Given the description of an element on the screen output the (x, y) to click on. 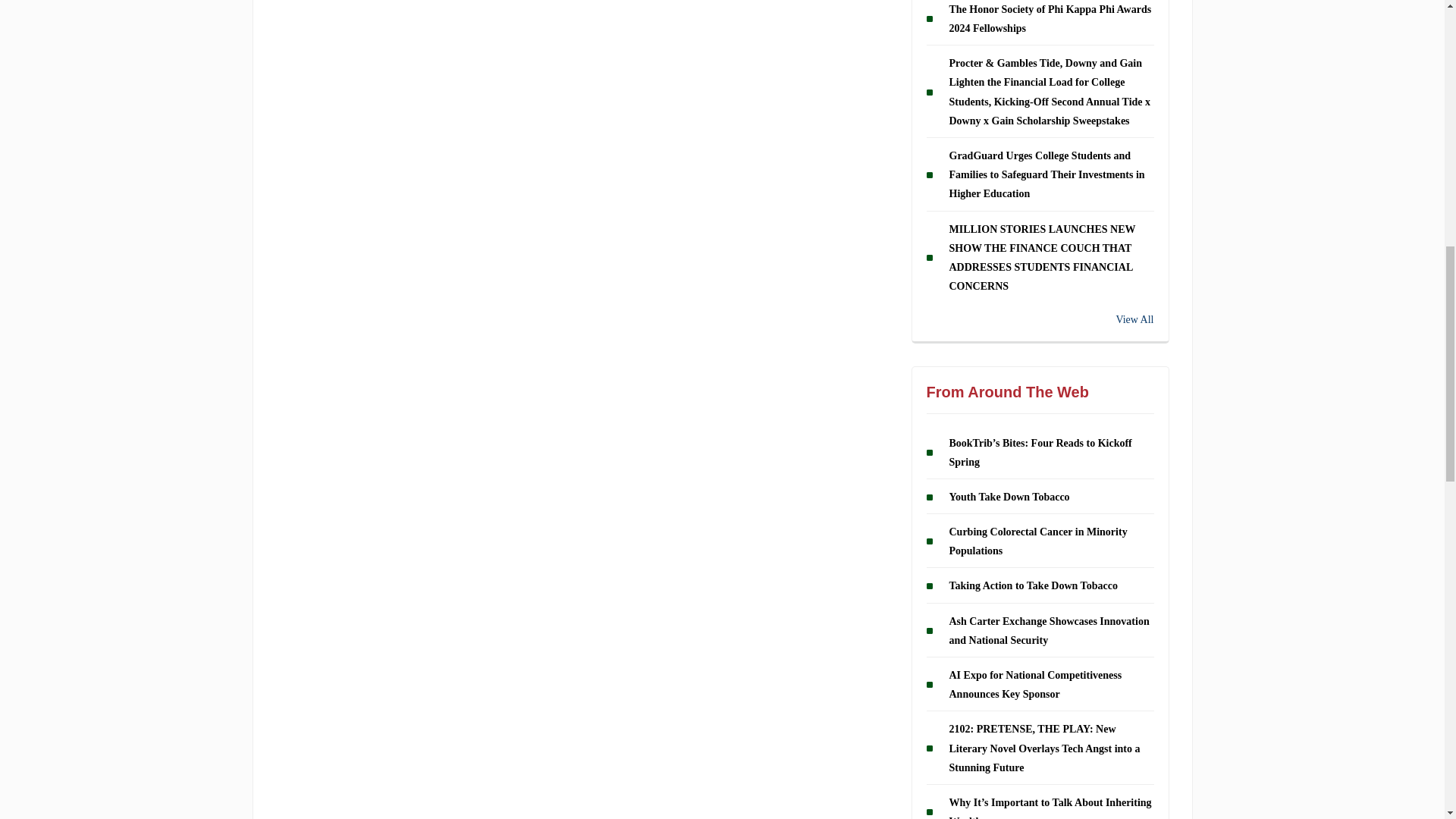
Curbing Colorectal Cancer in Minority Populations (1037, 390)
AI Expo for National Competitiveness Announces Key Sponsor (1035, 533)
View All (1040, 168)
Taking Action to Take Down Tobacco (1033, 434)
AI Expo for National Competitiveness Announces Key Sponsor (1035, 533)
Youth Take Down Tobacco (1009, 346)
Curbing Colorectal Cancer in Minority Populations (1037, 390)
